Given the description of an element on the screen output the (x, y) to click on. 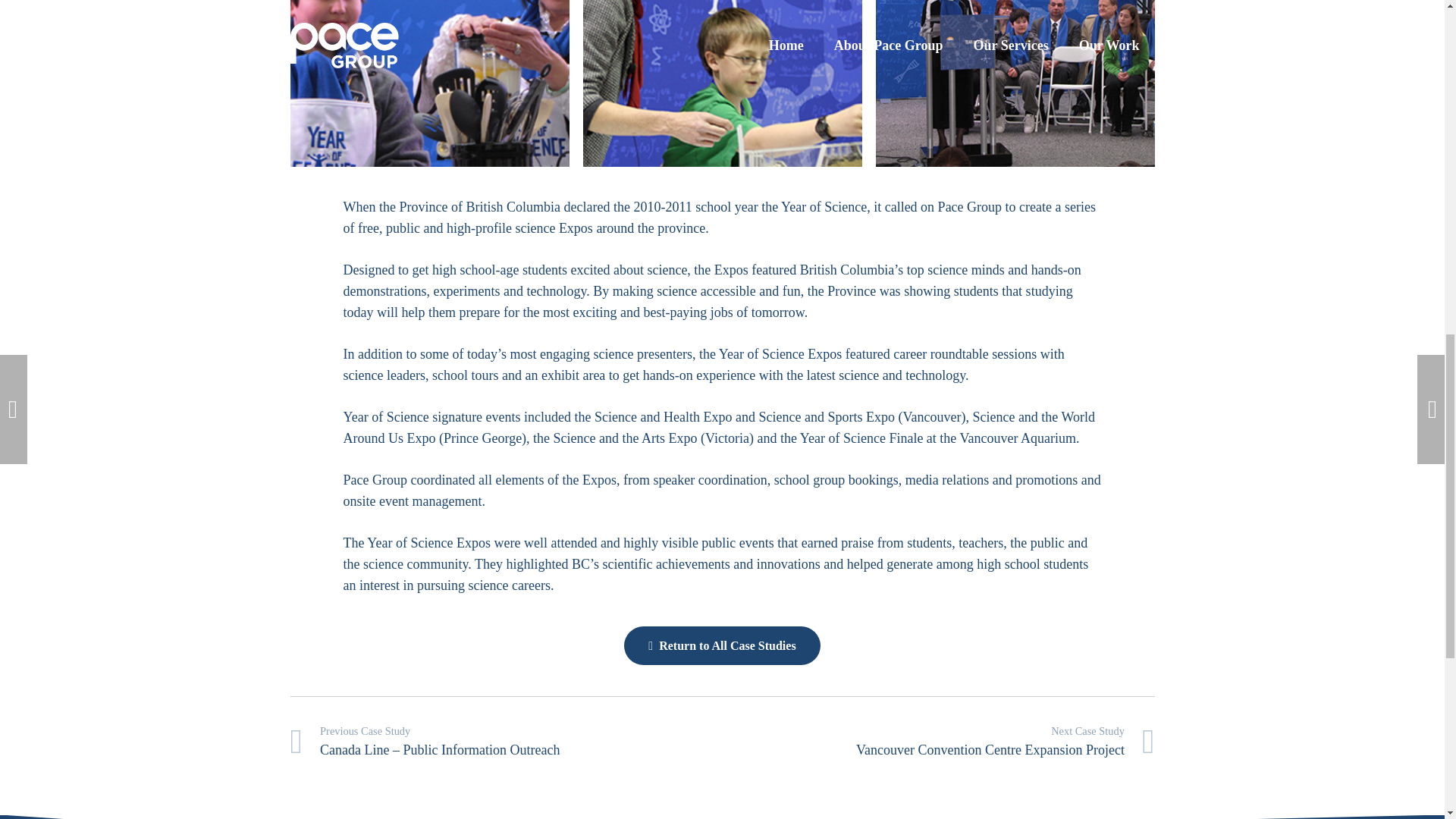
Prov-YOS-006-small (429, 83)
Prov-YOS-Dr-Van-der-Flier-Keller4 (721, 83)
Back to top (1413, 26)
Return to All Case Studies (721, 645)
Vancouver Convention Centre Expansion Project (938, 741)
